Given the description of an element on the screen output the (x, y) to click on. 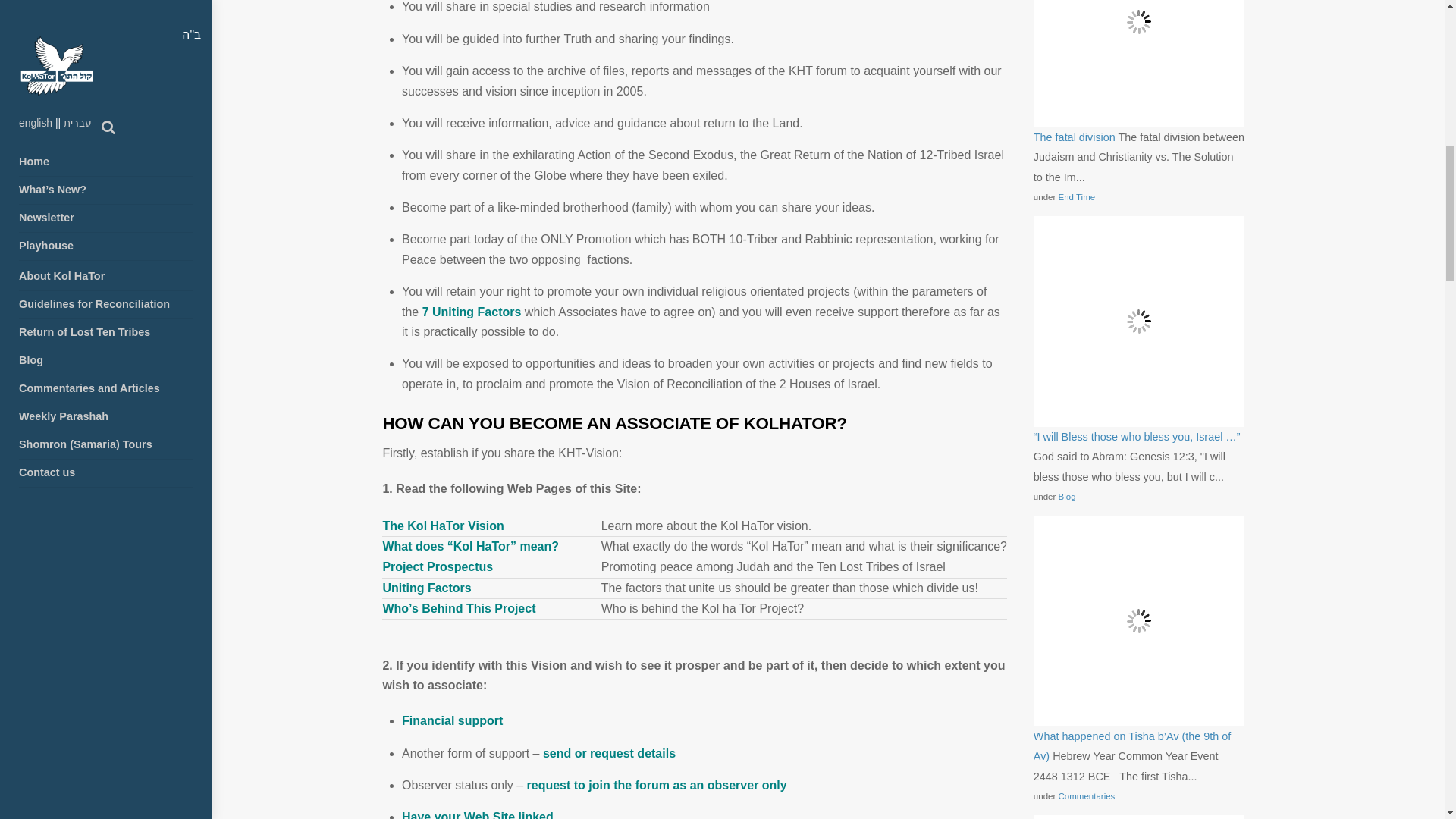
Have your Web Site linked (477, 814)
7 Uniting Factors (471, 311)
send or request details (609, 753)
Financial support (451, 720)
Project Prospectus (437, 566)
The Kol HaTor Vision (442, 525)
Uniting Factors (425, 587)
request to join the forum as an observer only (657, 784)
